Given the description of an element on the screen output the (x, y) to click on. 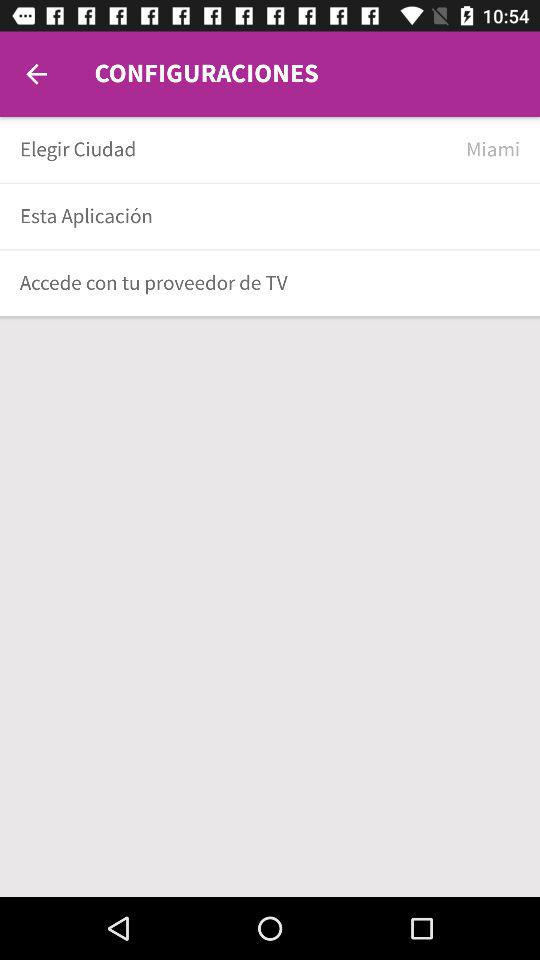
turn off the miami item (493, 149)
